Given the description of an element on the screen output the (x, y) to click on. 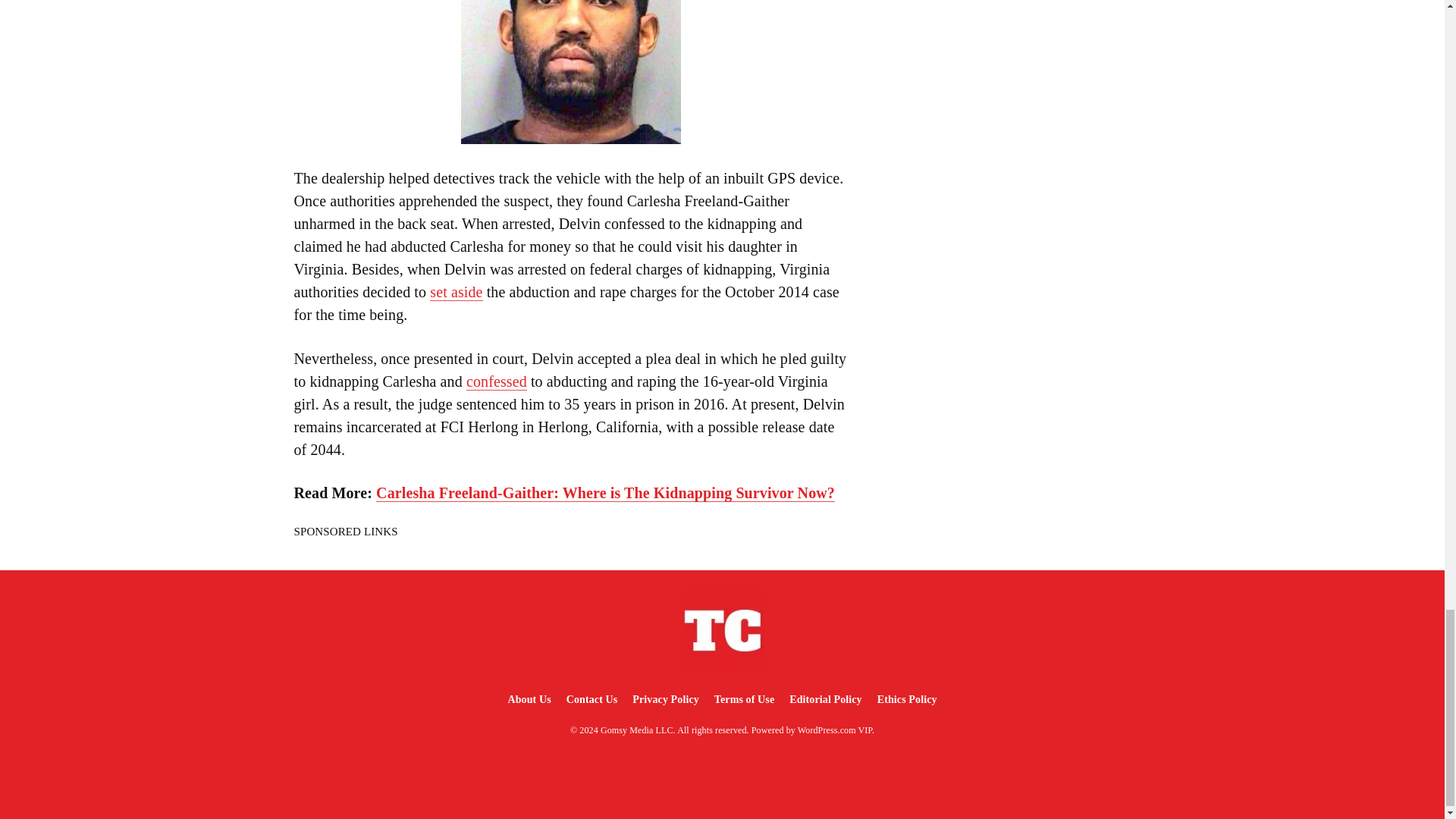
Contact Us (592, 699)
Editorial Policy (825, 699)
Privacy Policy (665, 699)
WordPress.com VIP (834, 729)
set aside (455, 292)
About Us (528, 699)
Ethics Policy (906, 699)
Terms of Use (743, 699)
confessed (496, 381)
